Given the description of an element on the screen output the (x, y) to click on. 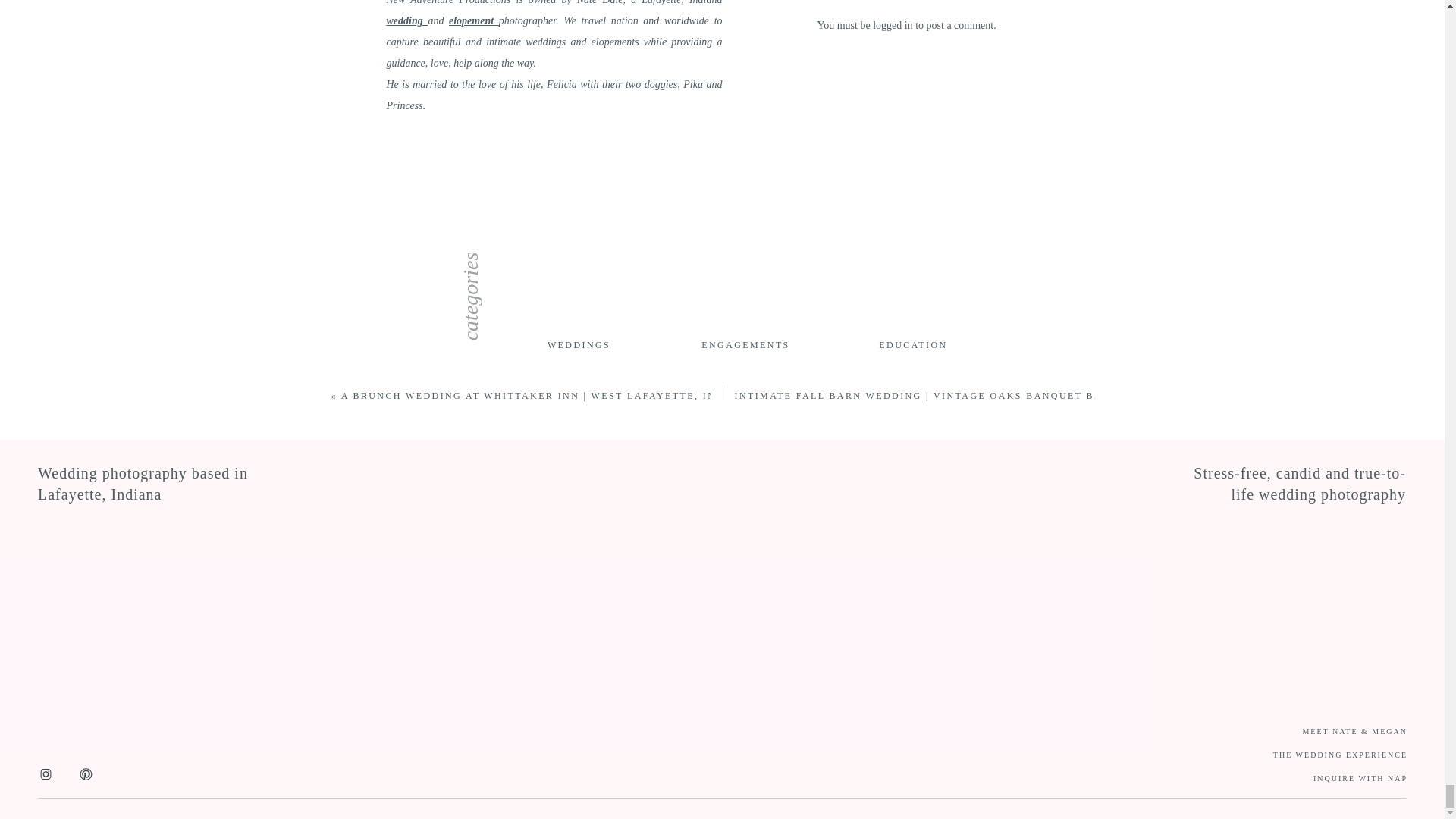
logged in (892, 25)
wedding (407, 20)
elopement (473, 20)
